Given the description of an element on the screen output the (x, y) to click on. 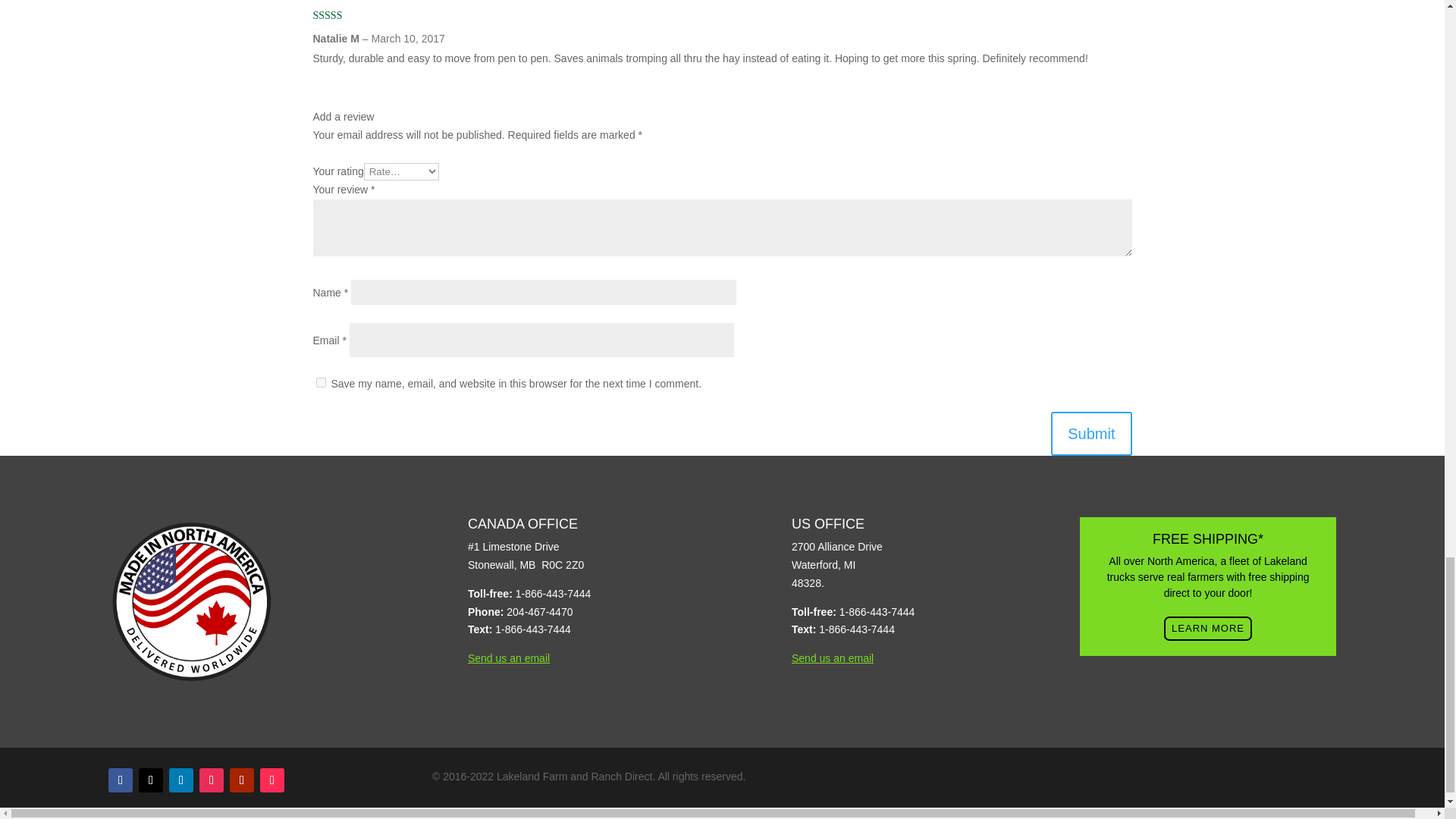
Follow on LinkedIn (180, 780)
Follow on Facebook (119, 780)
yes (319, 382)
Follow on Instagram (211, 780)
Follow on X (150, 780)
Follow on Youtube (241, 780)
Follow on TikTok (271, 780)
